Given the description of an element on the screen output the (x, y) to click on. 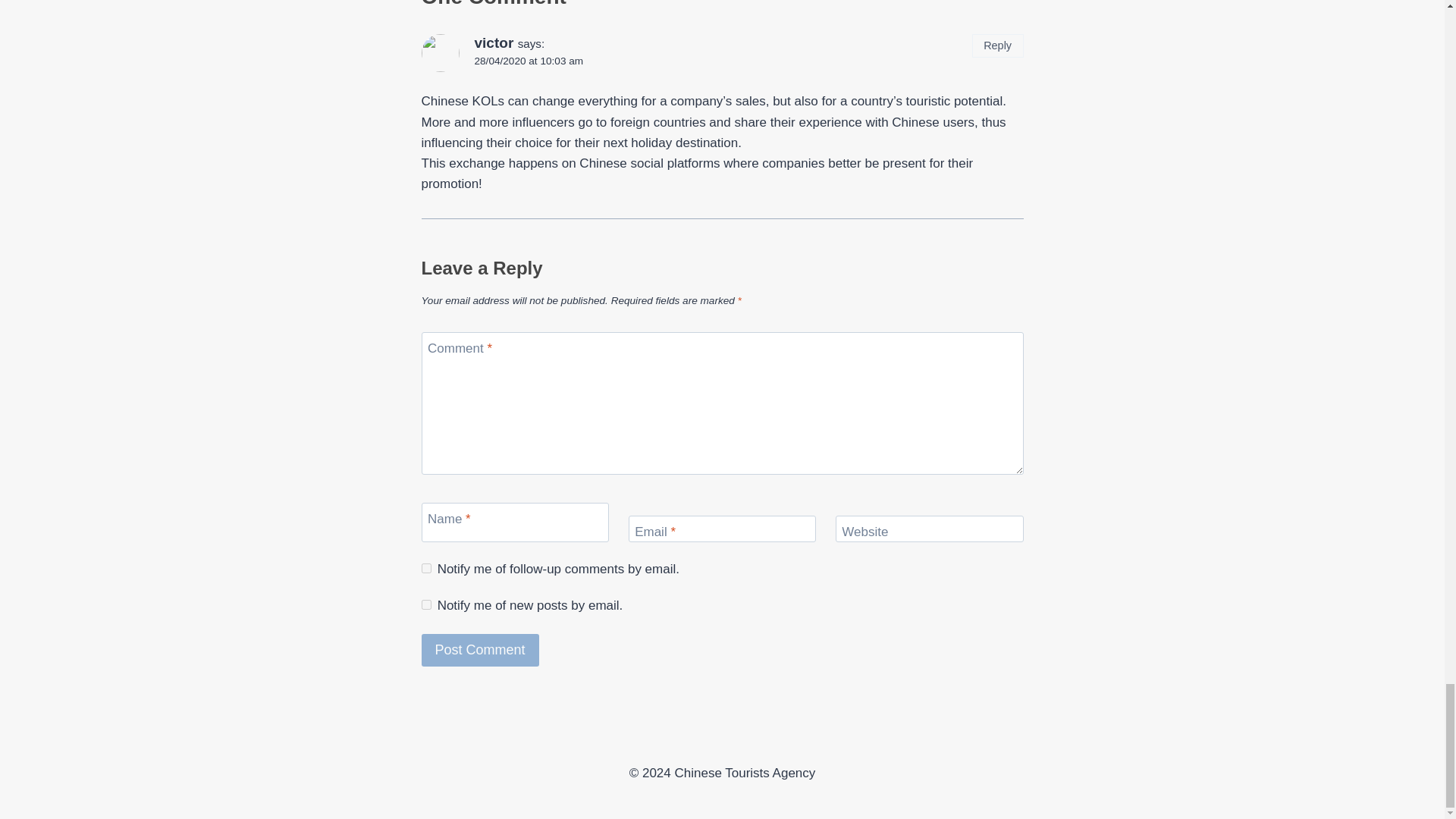
subscribe (426, 568)
Post Comment (480, 649)
subscribe (426, 604)
